Given the description of an element on the screen output the (x, y) to click on. 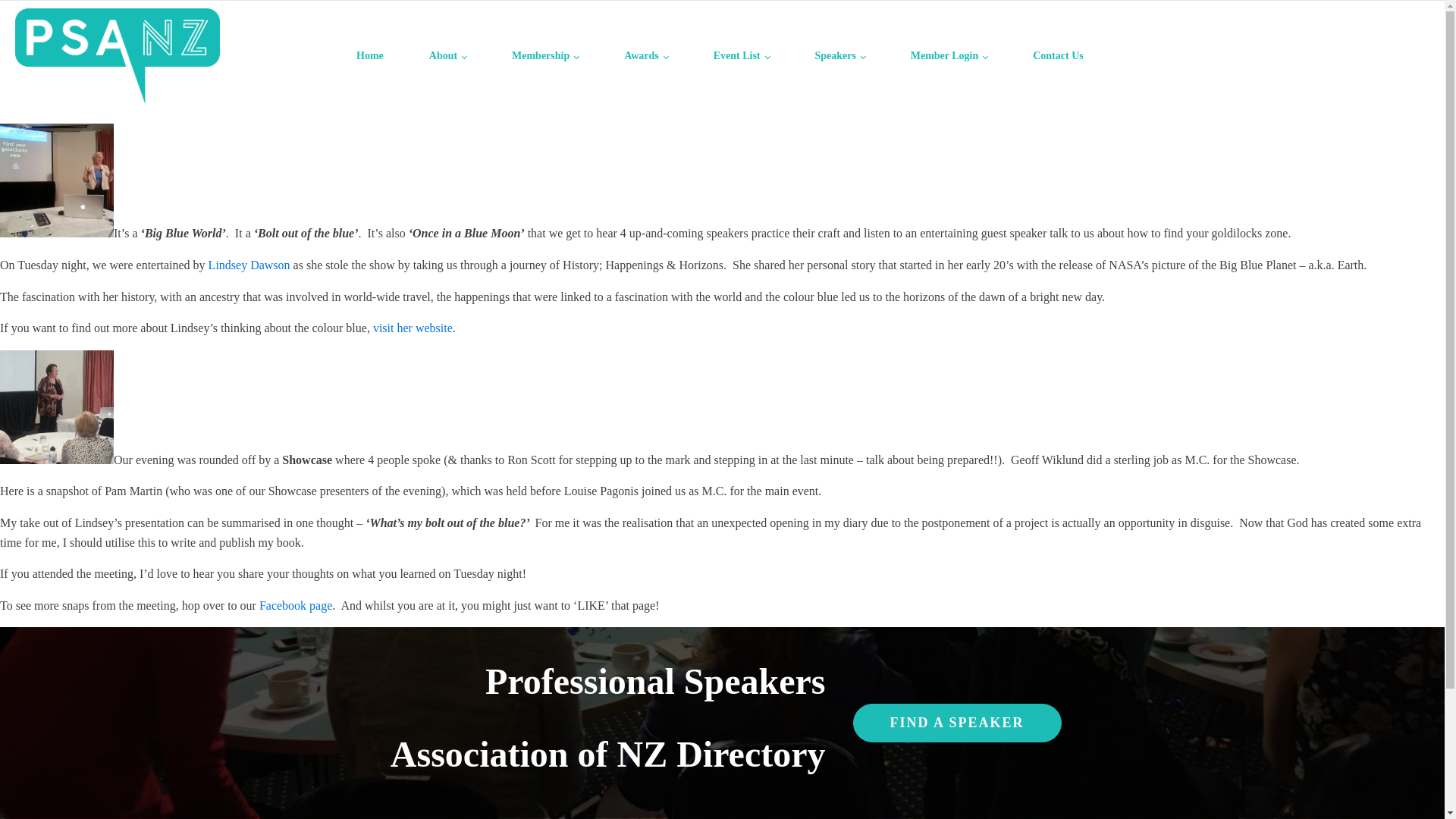
About (447, 55)
Speakers (838, 55)
Big Blue Thinking (412, 327)
NSANZ on Facebook (295, 604)
Awards (645, 55)
Home (369, 55)
Membership (545, 55)
Event List (741, 55)
Member Login (949, 55)
